Given the description of an element on the screen output the (x, y) to click on. 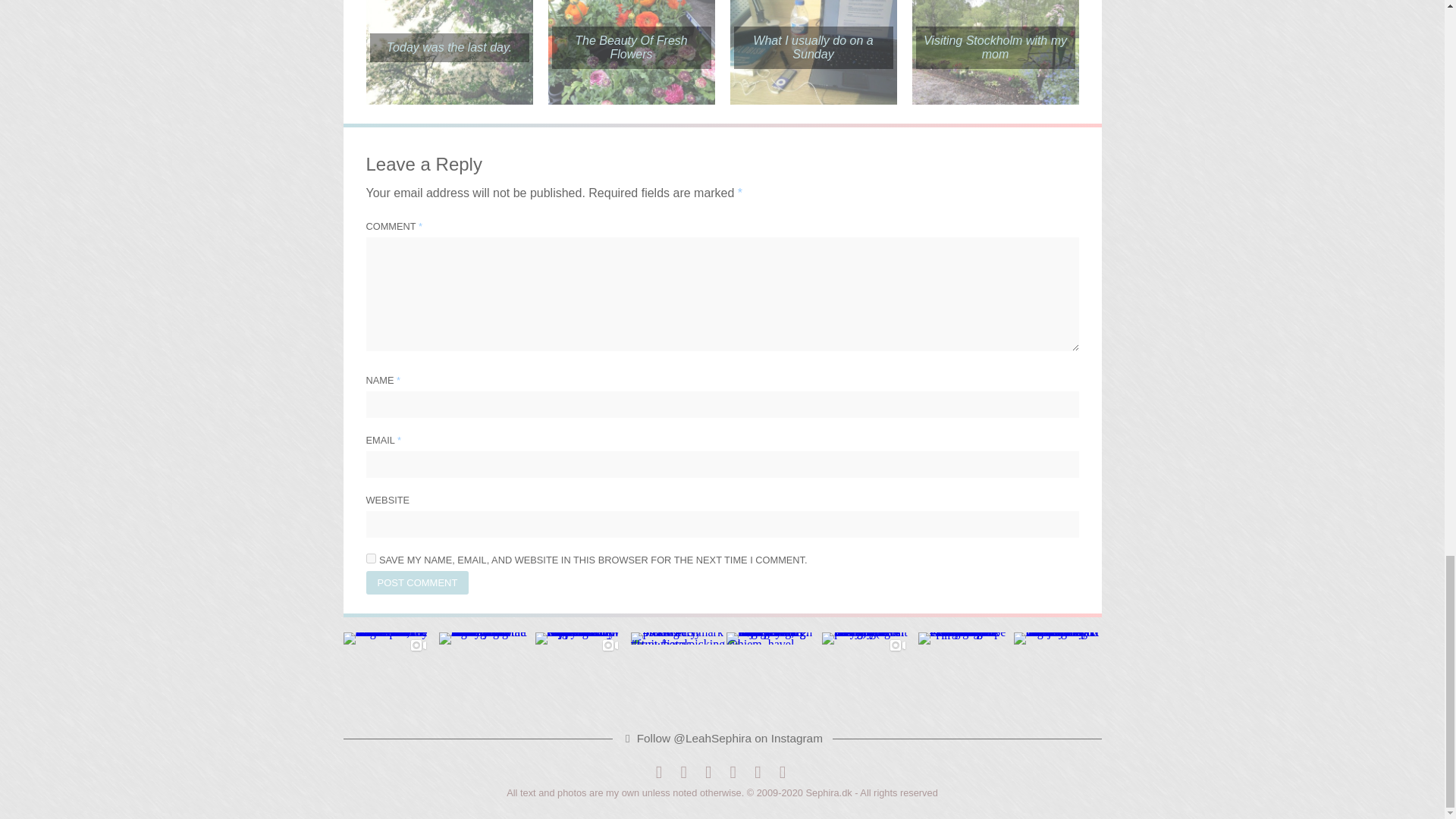
The Beauty Of Fresh Flowers (631, 47)
Today was the last day. (449, 47)
Facebook (658, 772)
yes (370, 558)
Post Comment (416, 582)
Twitter (683, 772)
E-Mail (757, 772)
Instagram (707, 772)
Bloglovin (732, 772)
